Given the description of an element on the screen output the (x, y) to click on. 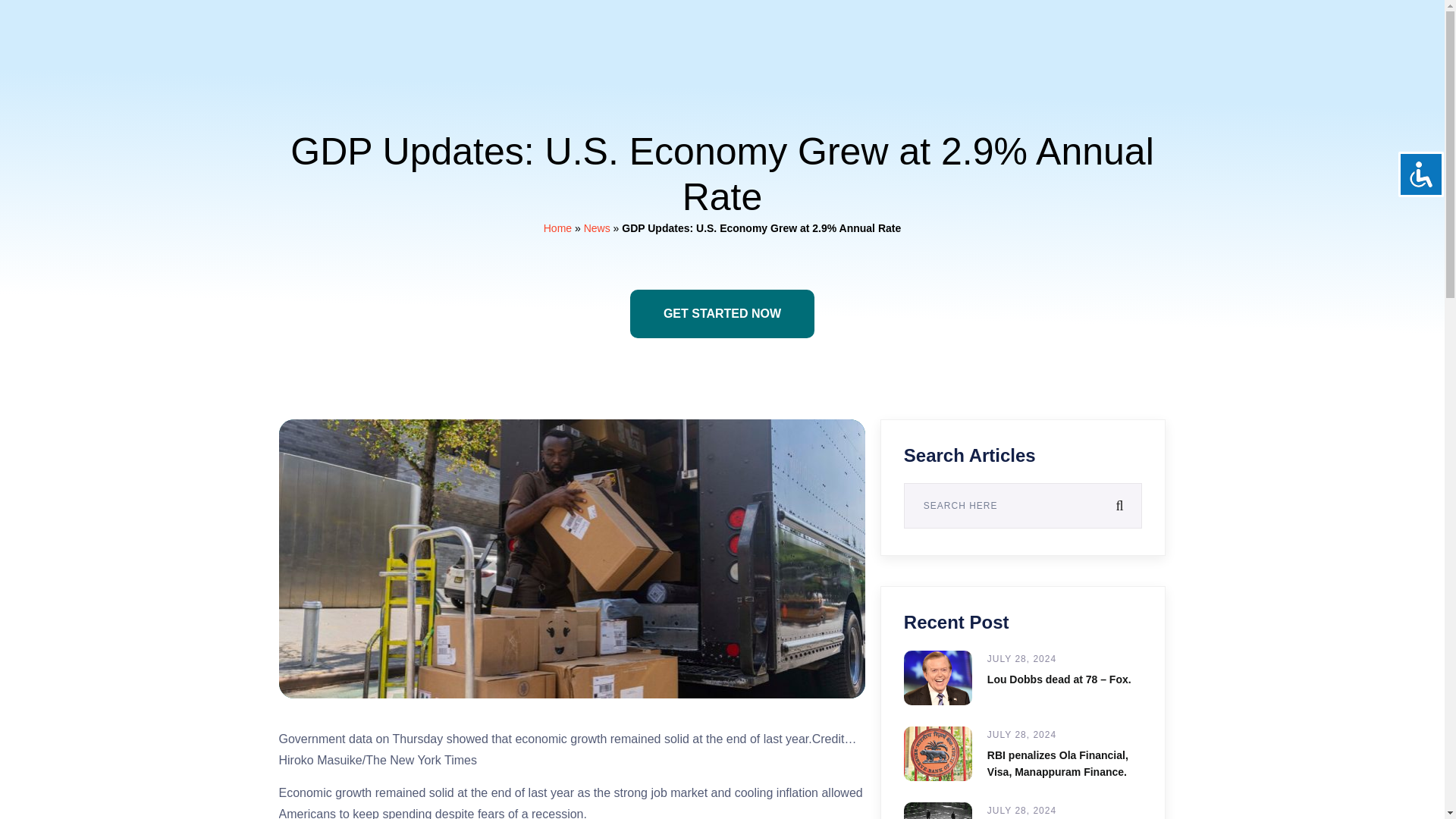
RBI penalizes Ola Financial, Visa, Manappuram Finance. (1057, 763)
News (596, 227)
GET STARTED NOW (721, 313)
Home (557, 227)
